Given the description of an element on the screen output the (x, y) to click on. 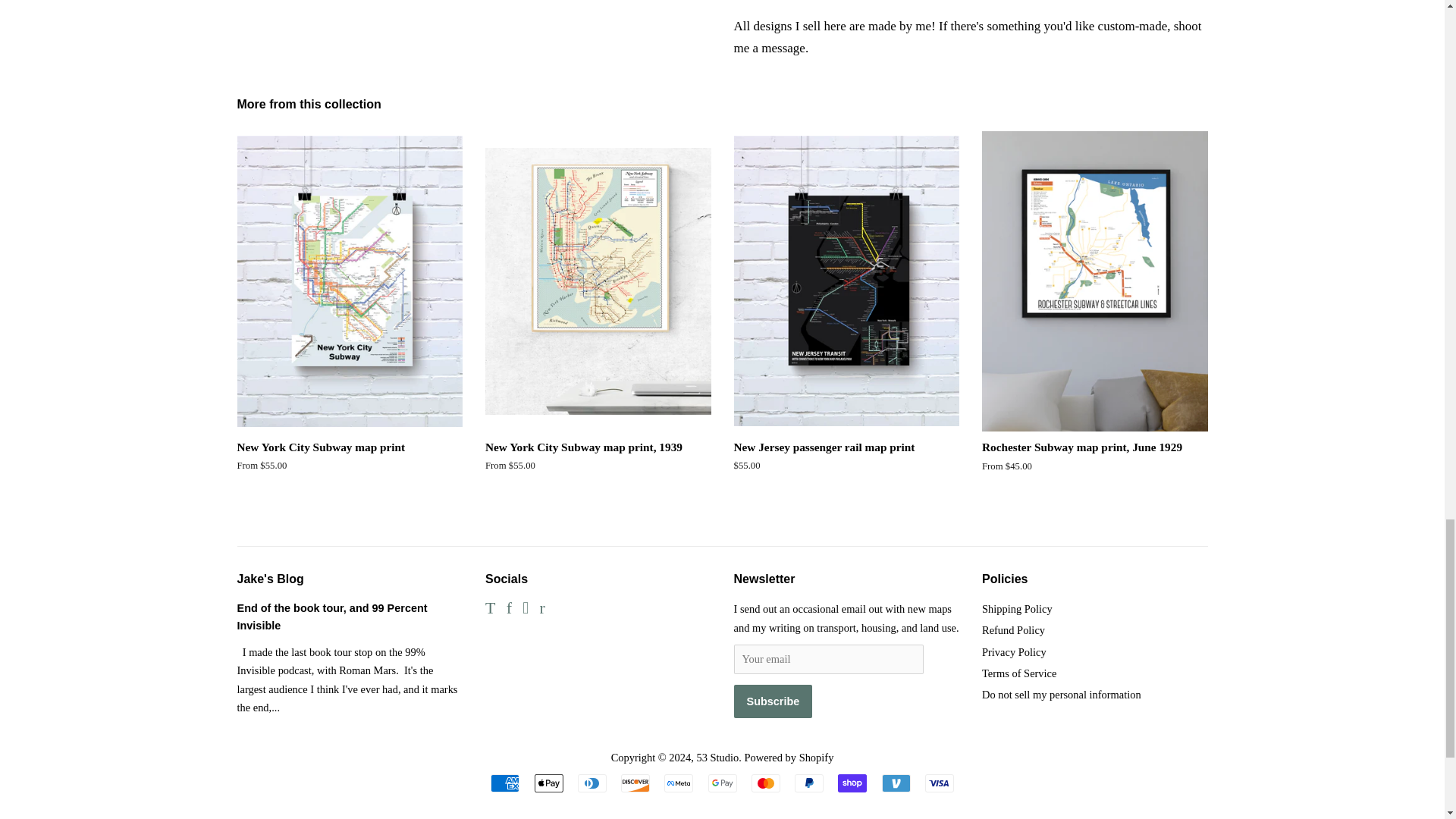
Meta Pay (678, 782)
Diners Club (592, 782)
Apple Pay (548, 782)
PayPal (809, 782)
Mastercard (765, 782)
Google Pay (721, 782)
American Express (504, 782)
Venmo (895, 782)
Shop Pay (852, 782)
Visa (938, 782)
Discover (635, 782)
Subscribe (772, 701)
